Given the description of an element on the screen output the (x, y) to click on. 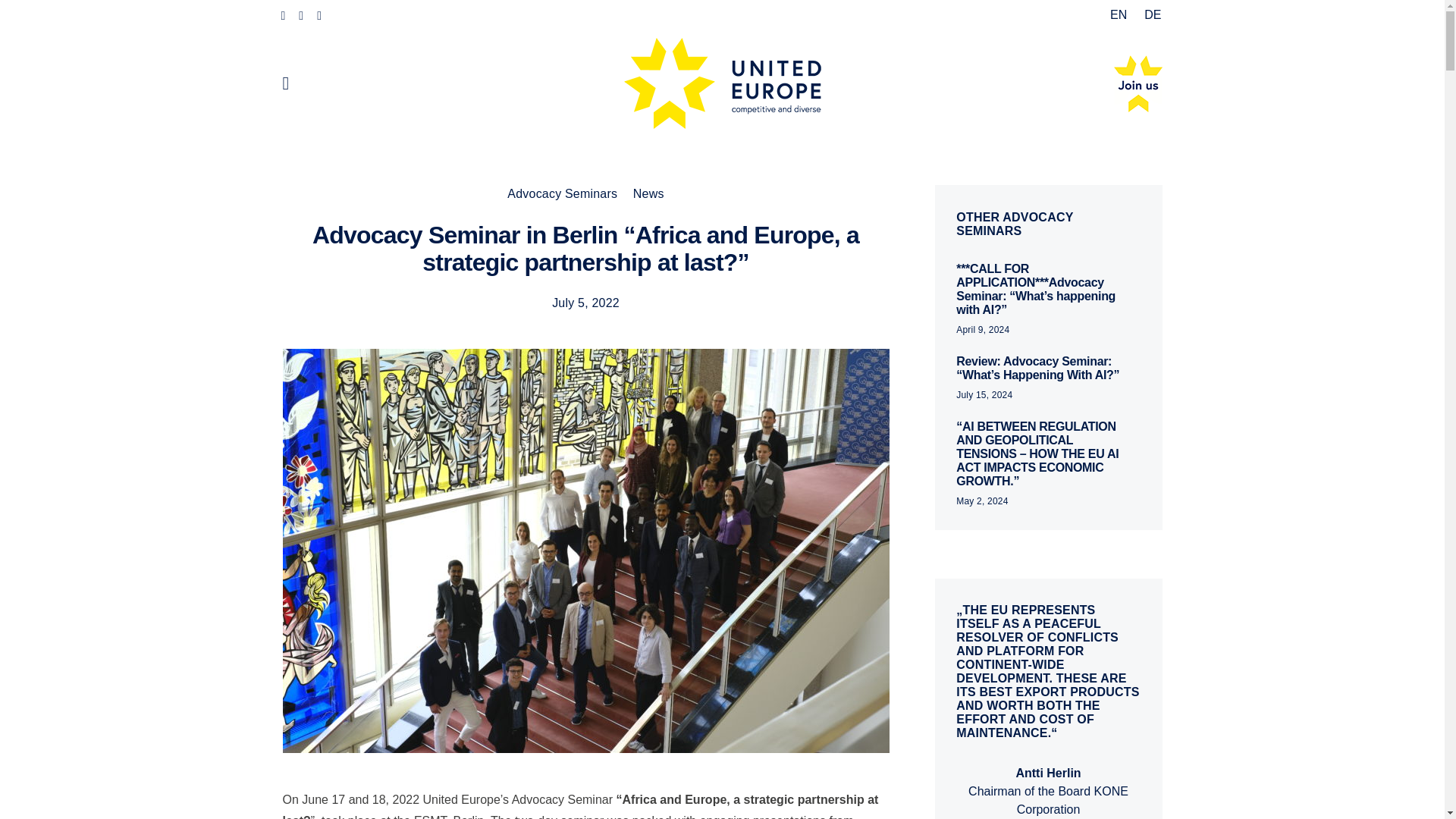
DE (1148, 14)
View all posts in Advocacy Seminars (561, 193)
EN (1118, 14)
View all posts in News (648, 193)
